Given the description of an element on the screen output the (x, y) to click on. 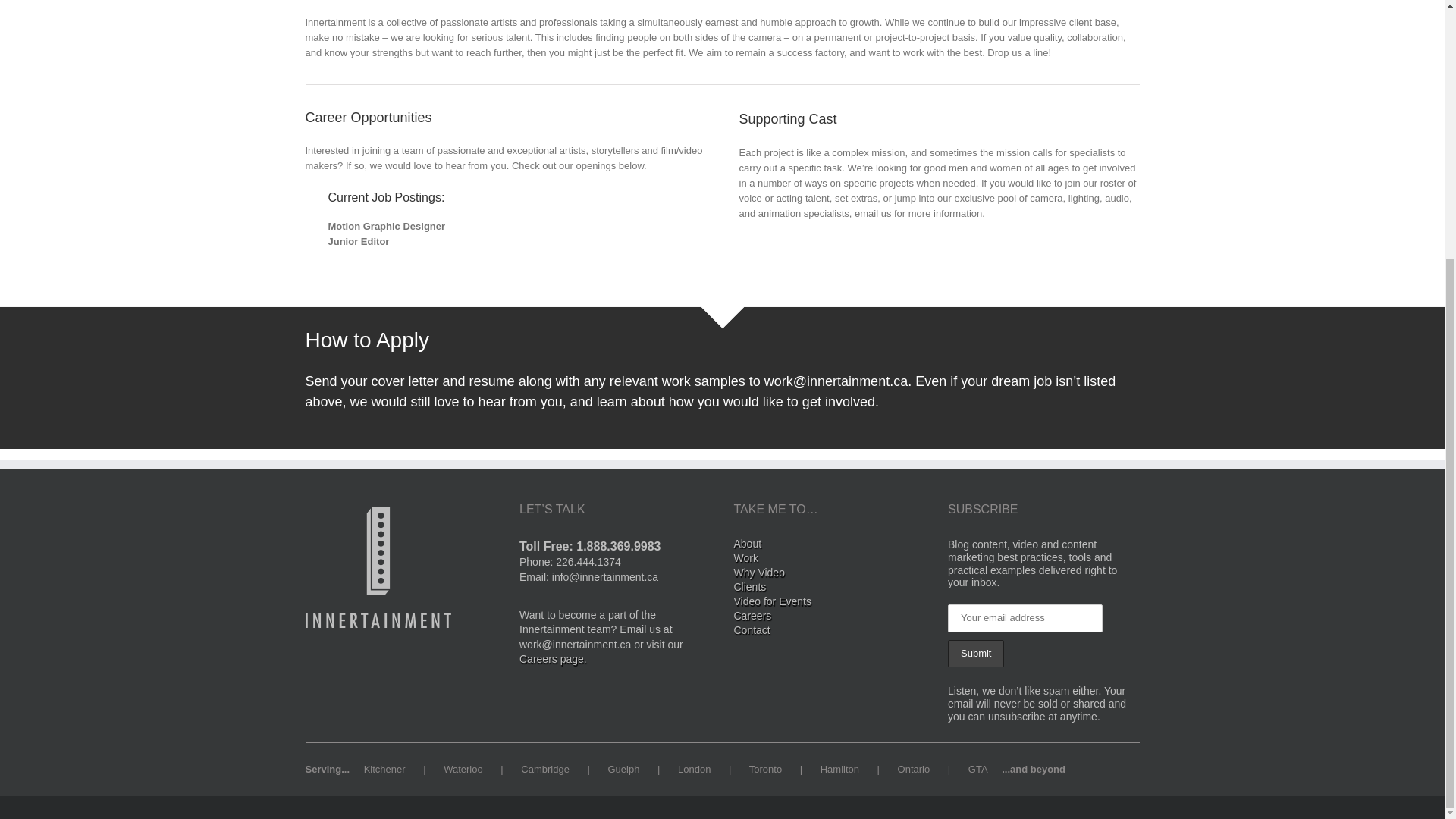
Careers page. (552, 658)
Careers (829, 617)
Video for Events (829, 603)
Submit (975, 653)
Work (829, 559)
Submit (975, 653)
Clients (829, 588)
Why Video (829, 574)
Contact (829, 631)
About (829, 545)
